Given the description of an element on the screen output the (x, y) to click on. 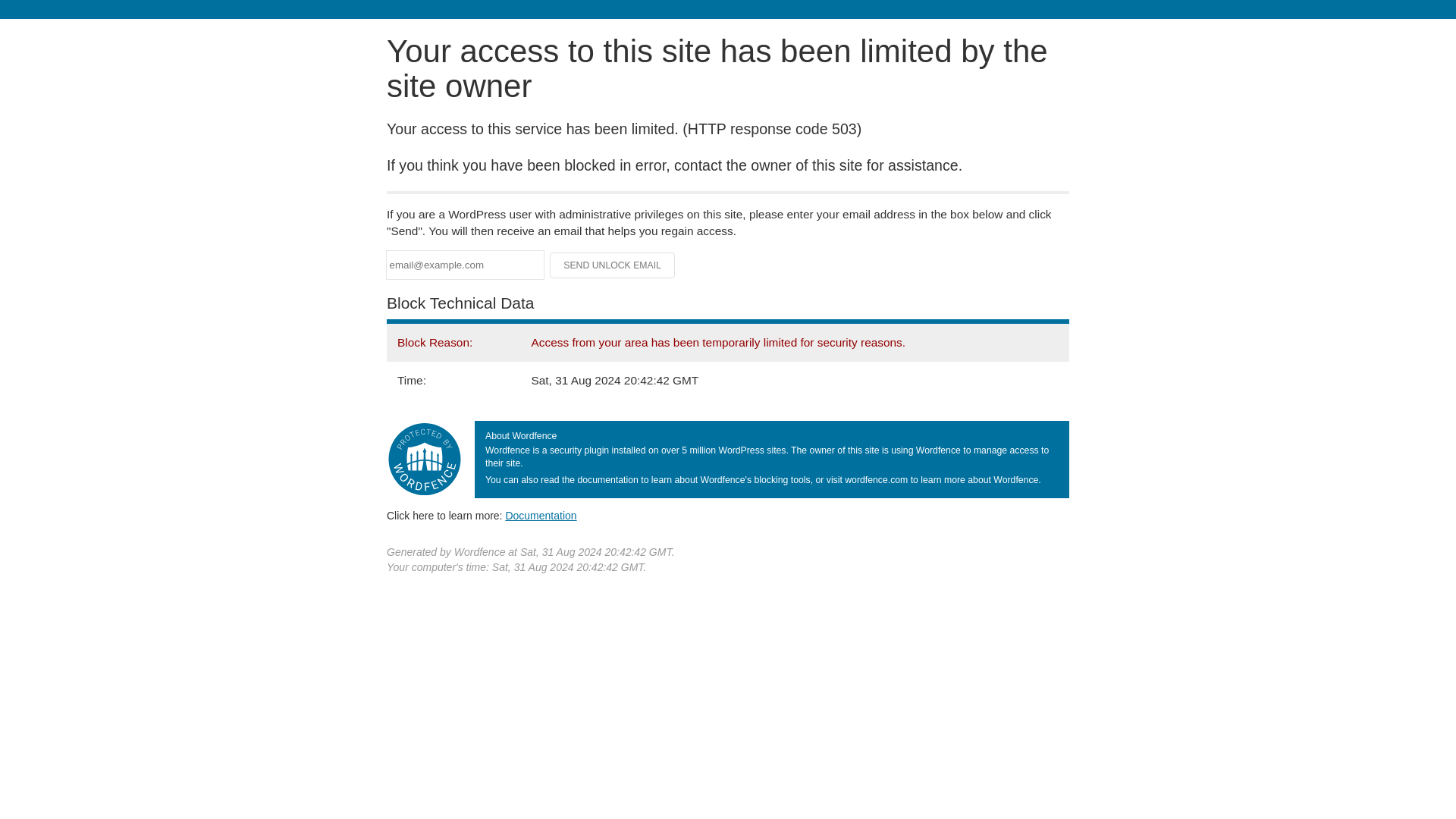
Documentation (540, 515)
Send Unlock Email (612, 265)
Send Unlock Email (612, 265)
